Given the description of an element on the screen output the (x, y) to click on. 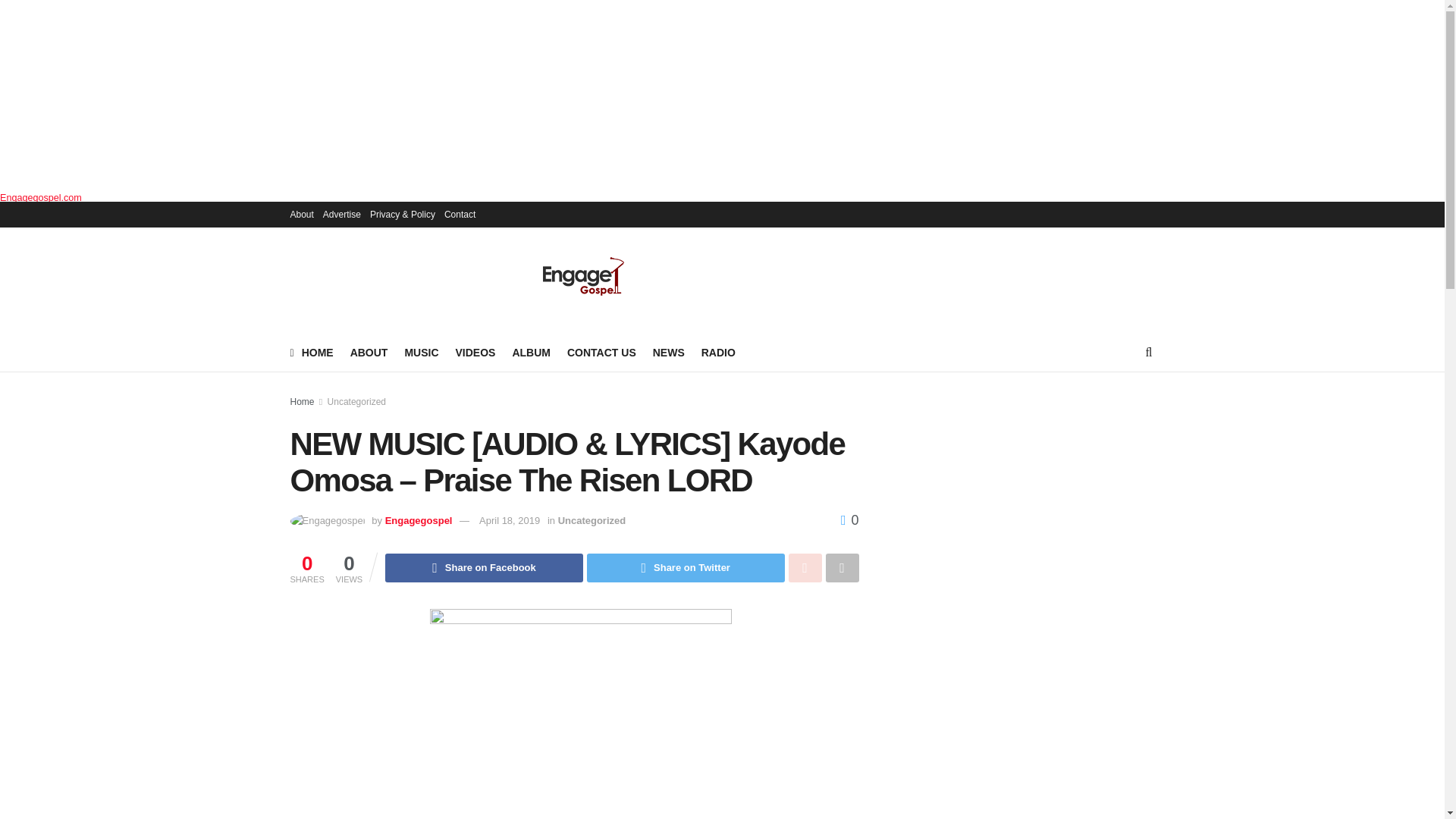
Share on Twitter (685, 567)
VIDEOS (475, 352)
April 18, 2019 (509, 520)
0 (850, 519)
RADIO (718, 352)
Uncategorized (356, 401)
Share on Facebook (484, 567)
Engagegospel (418, 520)
Contact (460, 214)
Home (301, 401)
